Given the description of an element on the screen output the (x, y) to click on. 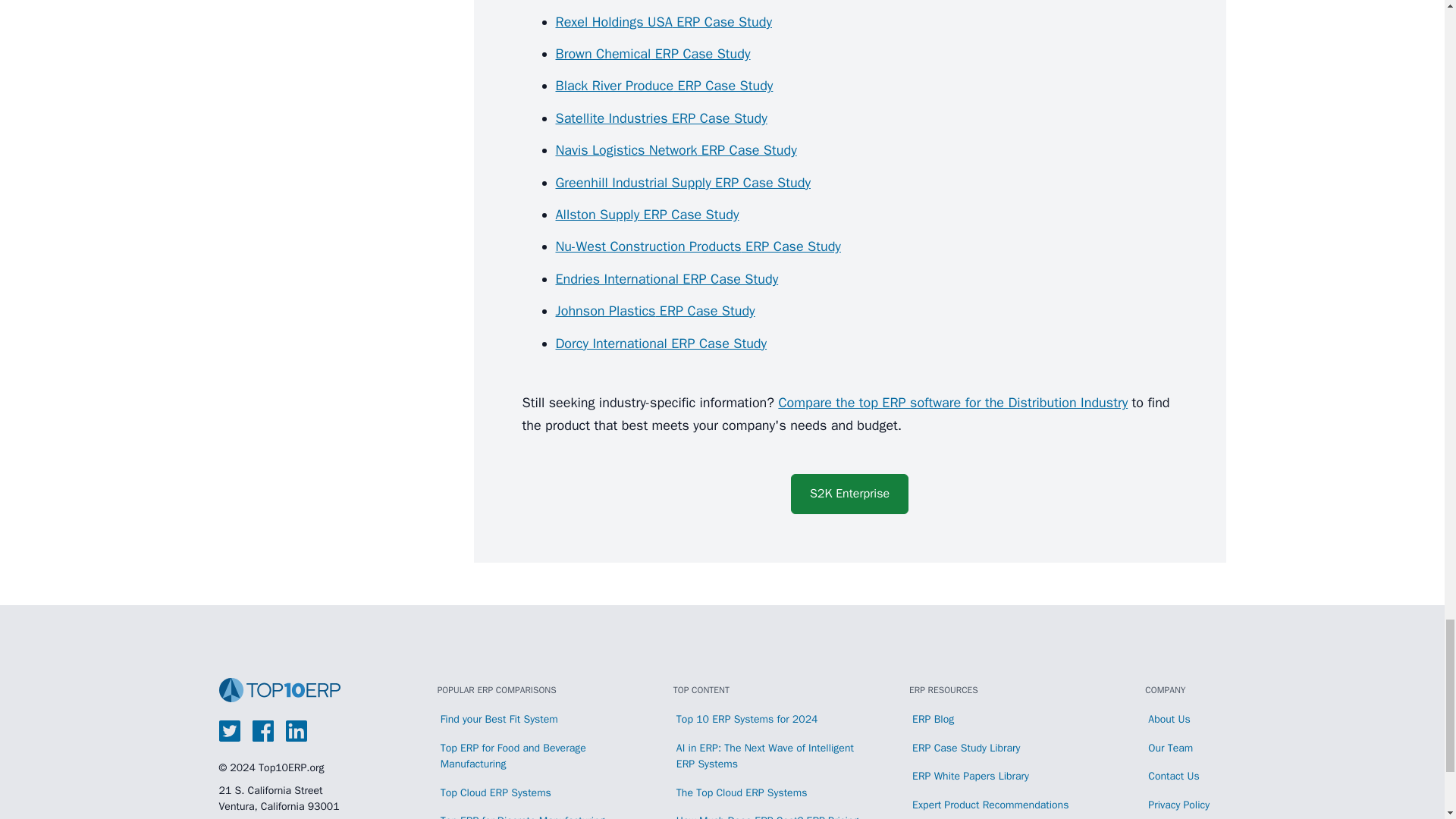
S2K Enterprise (849, 494)
Facebook (262, 731)
LinkedIn (295, 731)
Twitter (229, 731)
